Given the description of an element on the screen output the (x, y) to click on. 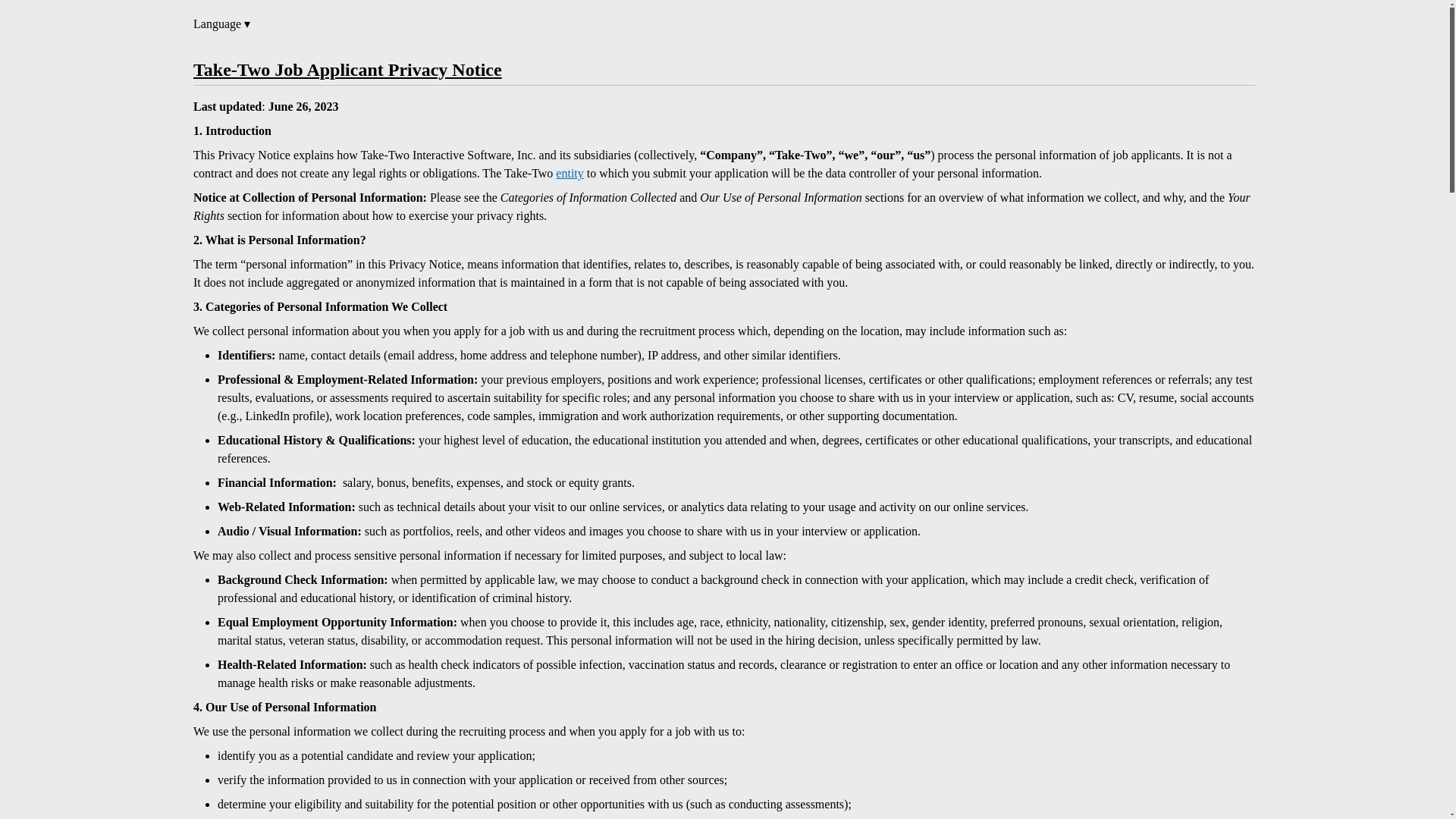
entity (569, 173)
